Given the description of an element on the screen output the (x, y) to click on. 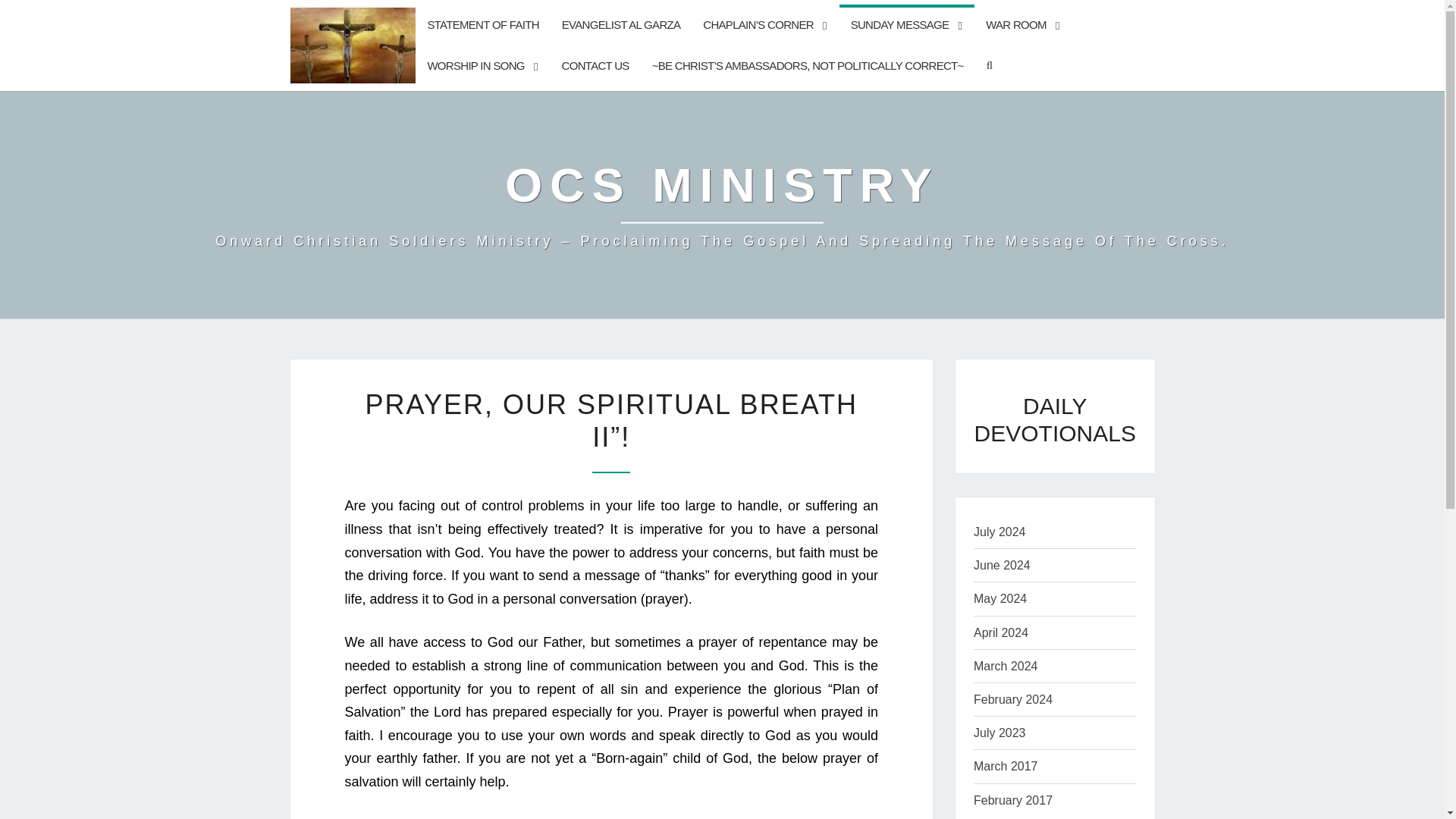
STATEMENT OF FAITH (482, 24)
OCS Ministry (721, 204)
WAR ROOM (1022, 24)
EVANGELIST AL GARZA (620, 24)
SUNDAY MESSAGE (907, 24)
